Given the description of an element on the screen output the (x, y) to click on. 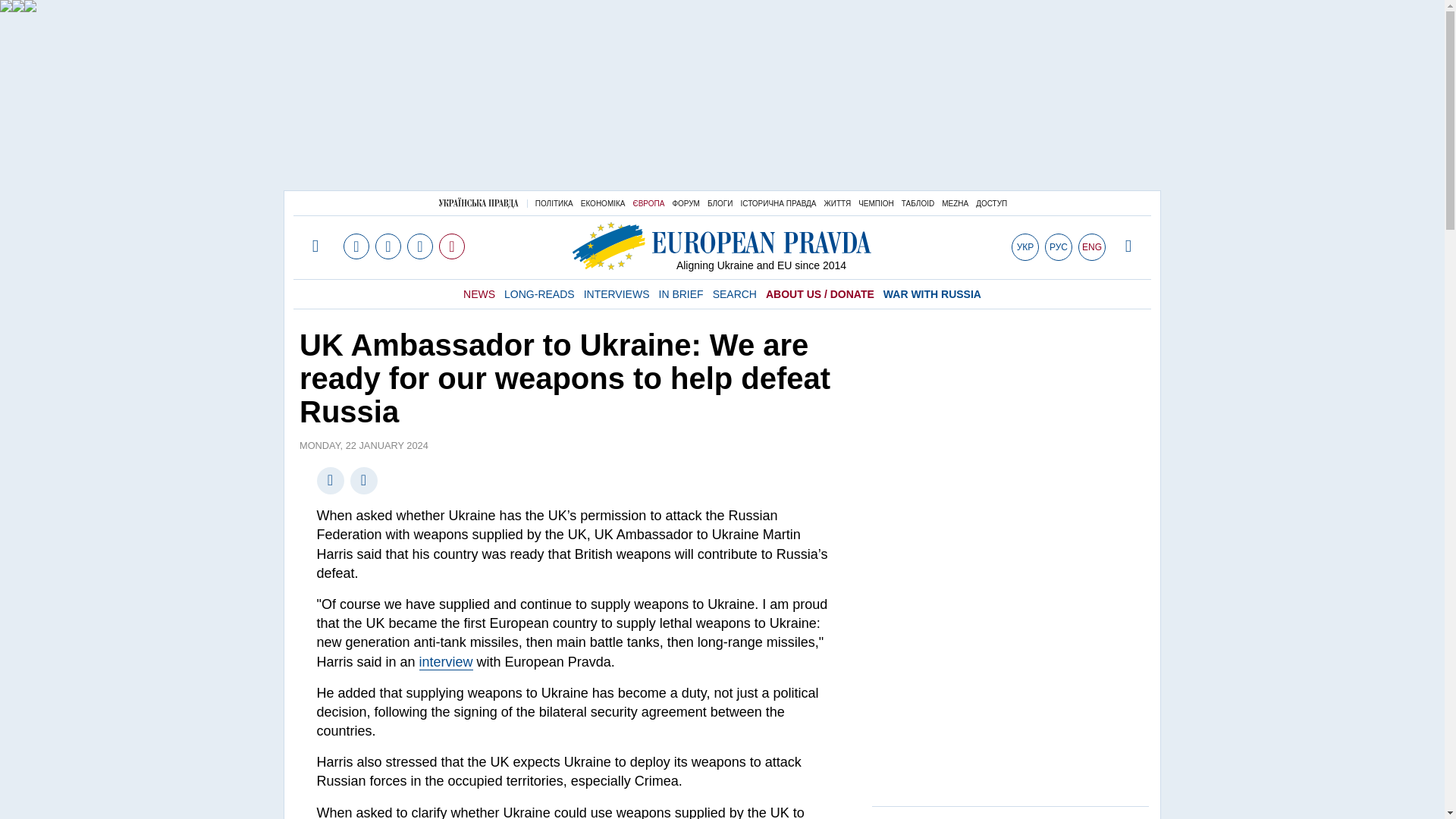
NEWS (479, 294)
LONG-READS (539, 294)
INTERVIEWS (616, 294)
MEZHA (955, 203)
ENG (1091, 247)
IN BRIEF (680, 294)
European Pravda (722, 245)
